Given the description of an element on the screen output the (x, y) to click on. 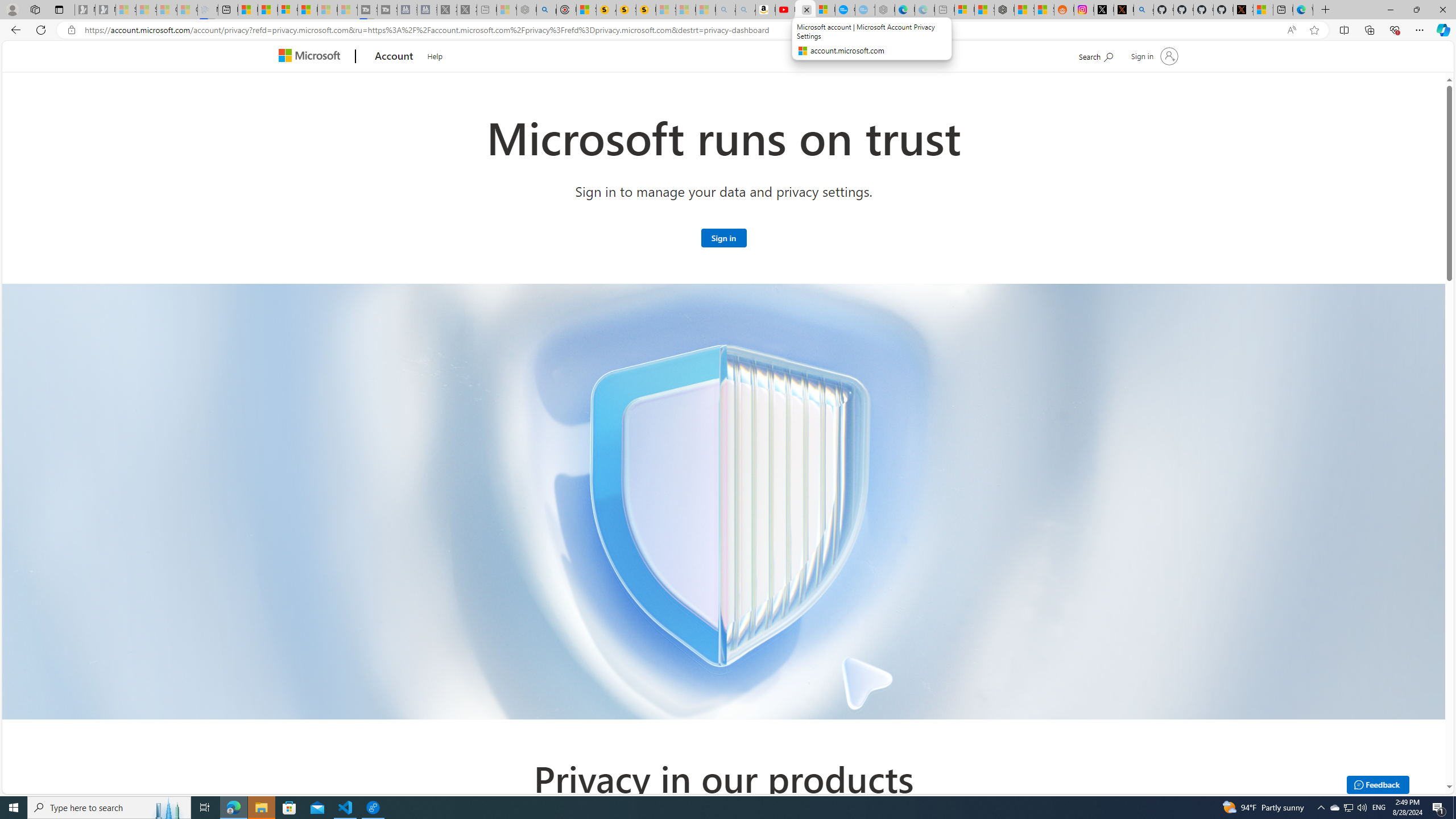
Account (394, 56)
The most popular Google 'how to' searches - Sleeping (864, 9)
X Privacy Policy (1242, 9)
Microsoft Start - Sleeping (327, 9)
Overview (287, 9)
Newsletter Sign Up - Sleeping (105, 9)
